Given the description of an element on the screen output the (x, y) to click on. 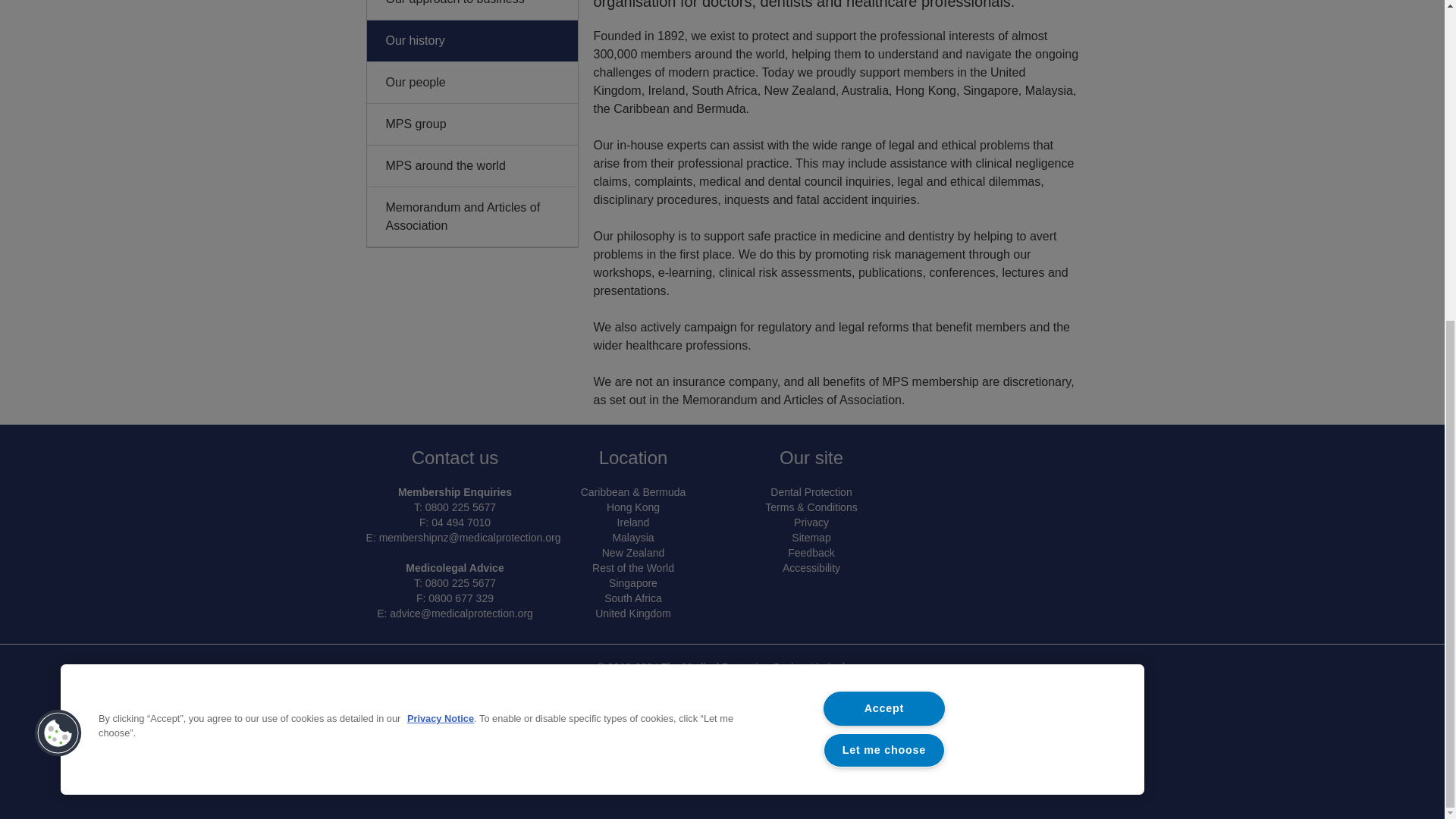
Cookies Button (57, 213)
